Given the description of an element on the screen output the (x, y) to click on. 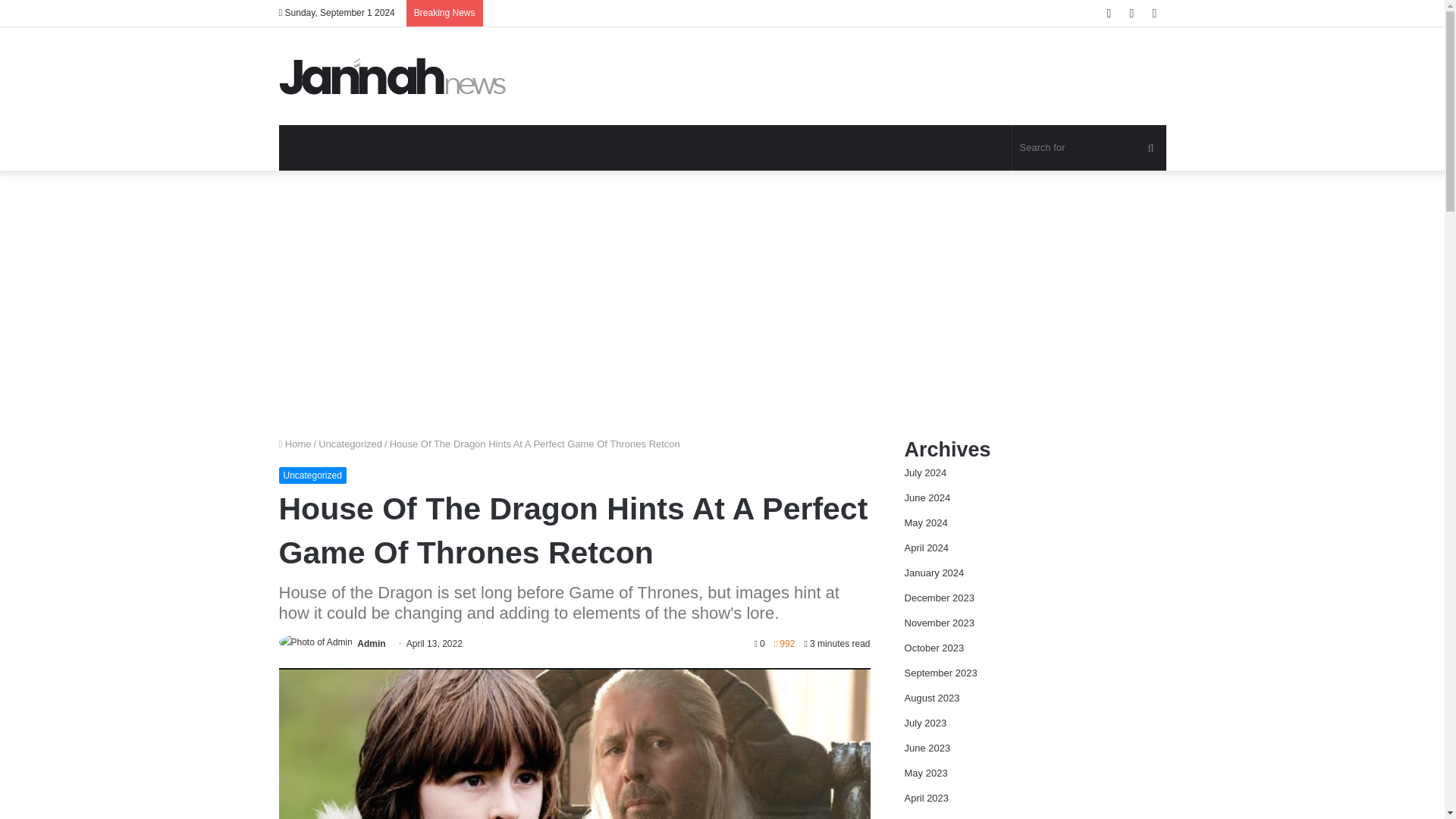
Admin (370, 643)
Uncategorized (312, 475)
Search for (1088, 147)
Movie News (392, 76)
Uncategorized (349, 443)
Home (295, 443)
Admin (370, 643)
